Given the description of an element on the screen output the (x, y) to click on. 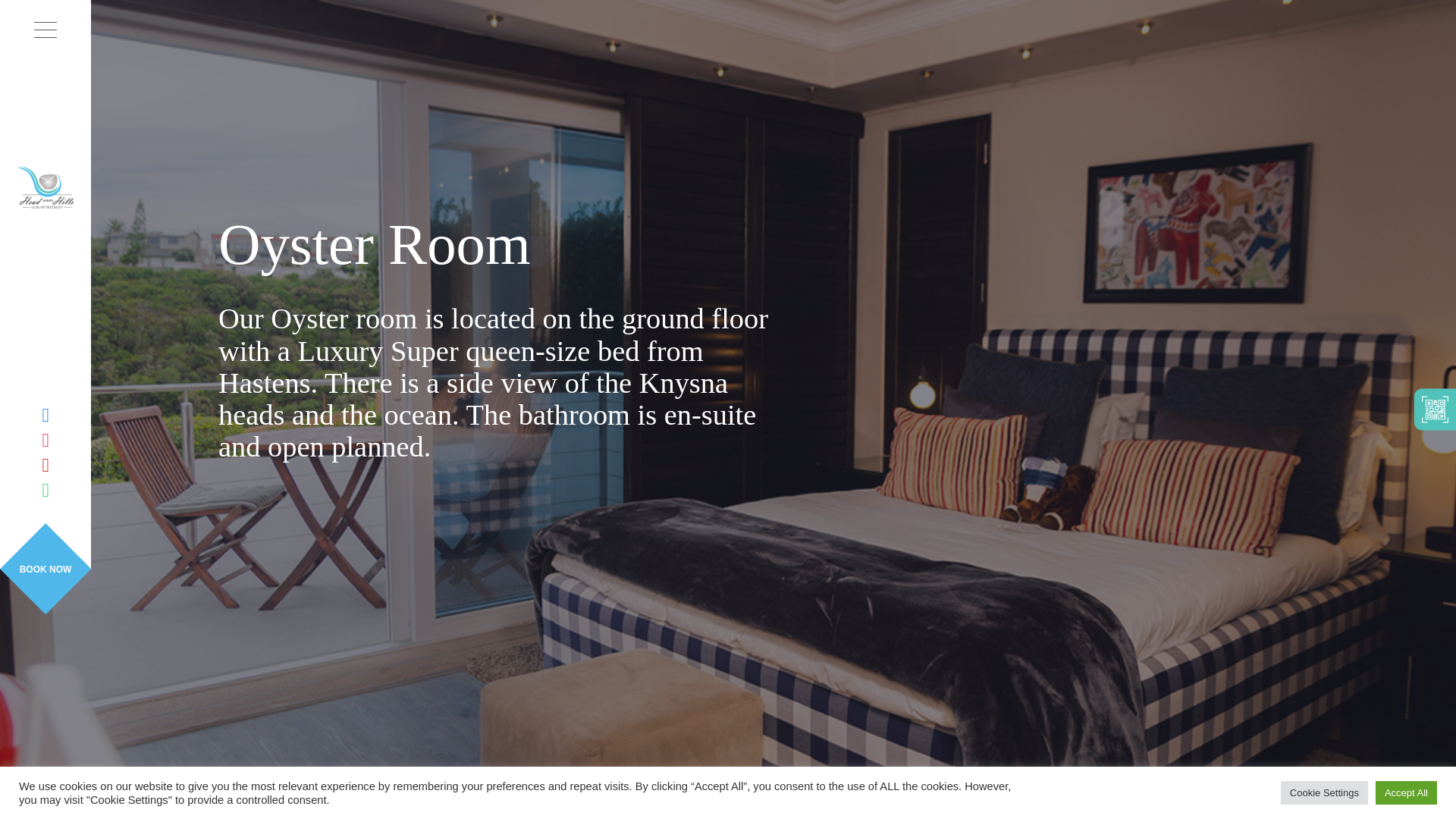
Head Over Hills on Instagram (44, 440)
Head Over Hills on Facebook (44, 414)
Head Over Hills on WhatsApp (44, 490)
Head Over Hills on Youtube (44, 464)
BOOK NOW (45, 568)
Head Over Hills (45, 187)
